Given the description of an element on the screen output the (x, y) to click on. 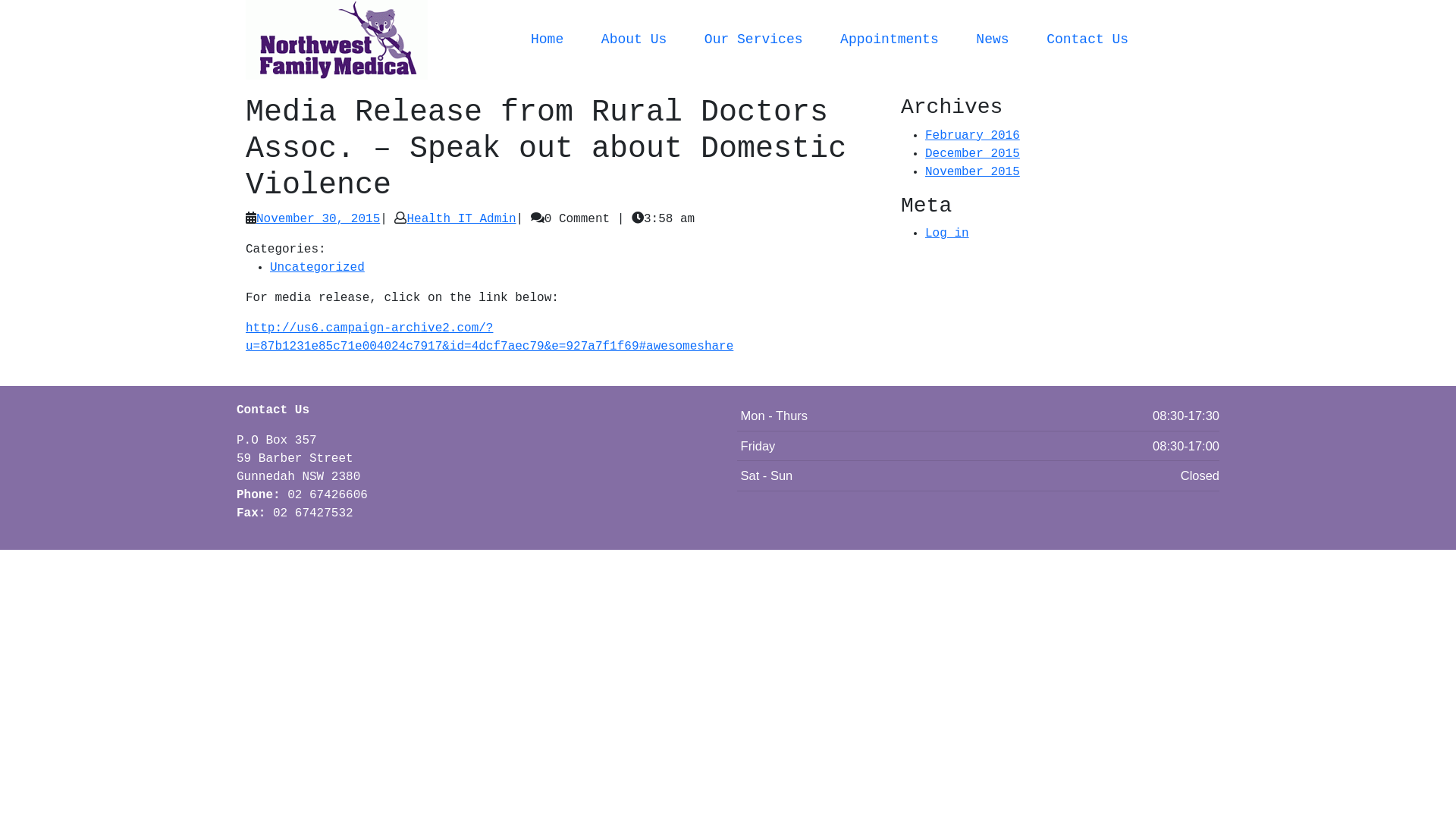
Our Services Element type: text (753, 39)
News Element type: text (991, 39)
December 2015 Element type: text (972, 153)
Uncategorized Element type: text (316, 267)
Log in Element type: text (947, 233)
Health IT Admin
Health IT Admin Element type: text (460, 218)
November 30, 2015
November 30, 2015 Element type: text (317, 218)
Appointments Element type: text (889, 39)
February 2016 Element type: text (972, 135)
Contact Us Element type: text (1087, 39)
November 2015 Element type: text (972, 171)
Home Element type: text (546, 39)
About Us Element type: text (633, 39)
